Given the description of an element on the screen output the (x, y) to click on. 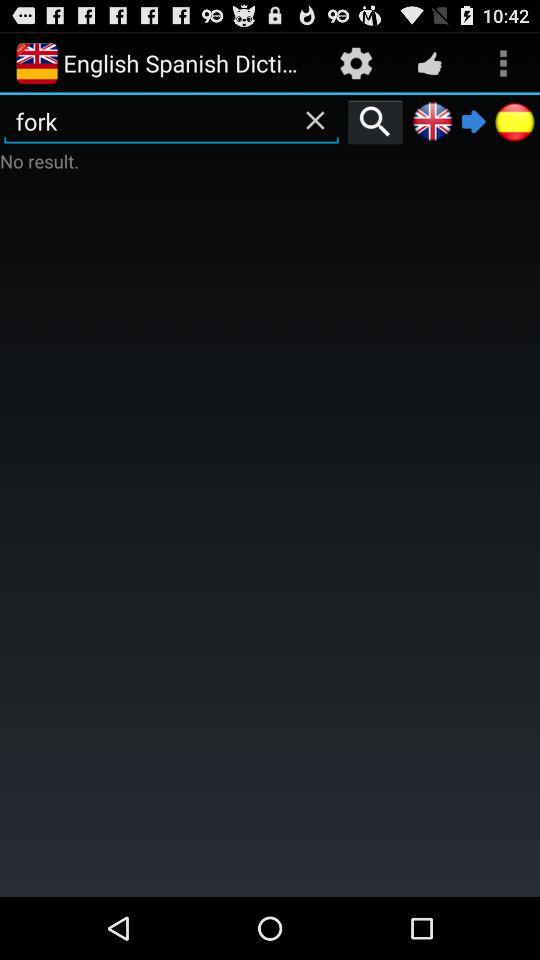
open app next to the english spanish dictionary (356, 62)
